Given the description of an element on the screen output the (x, y) to click on. 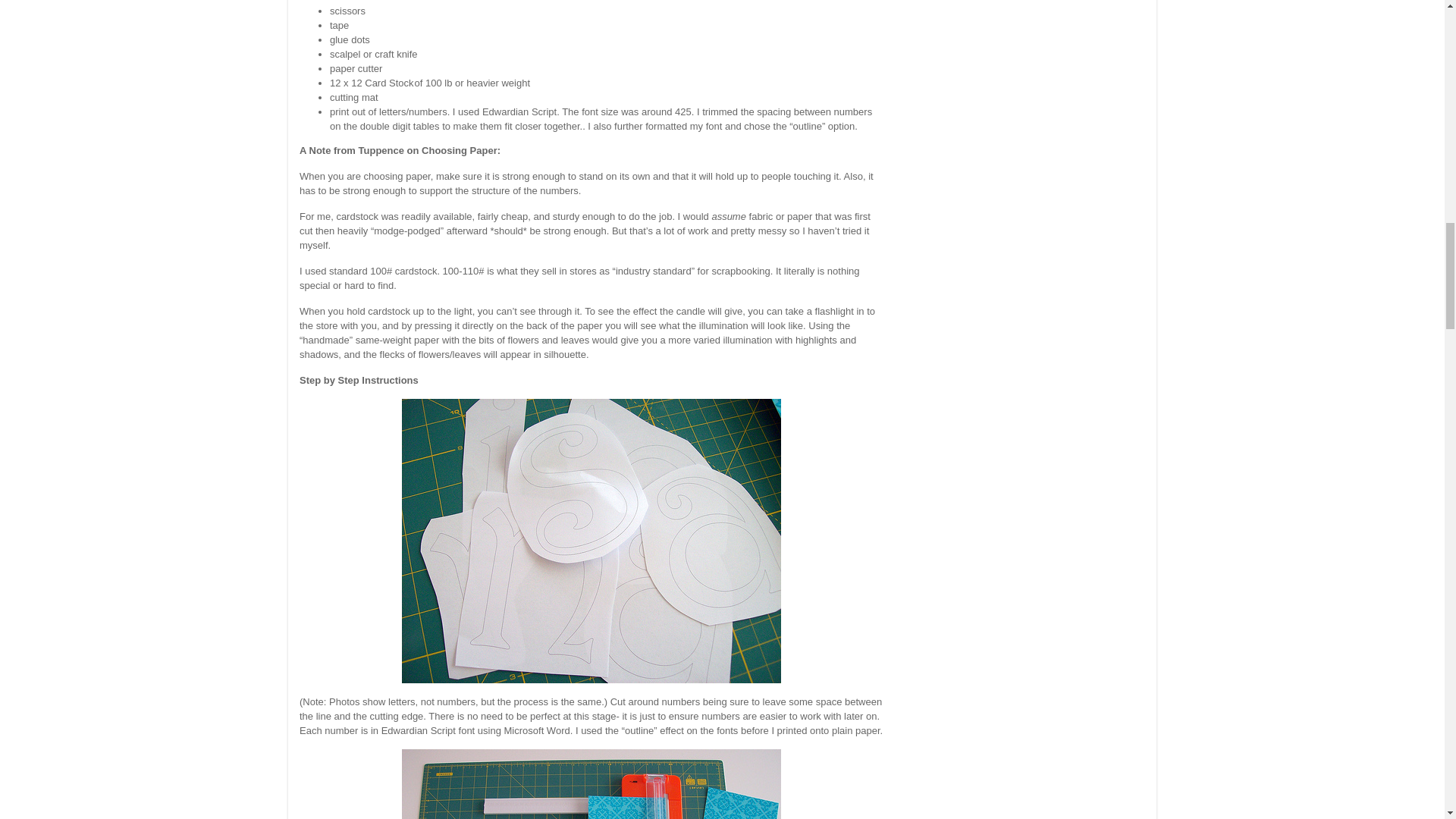
diy table numbers (590, 784)
diy table numbers (590, 540)
